Given the description of an element on the screen output the (x, y) to click on. 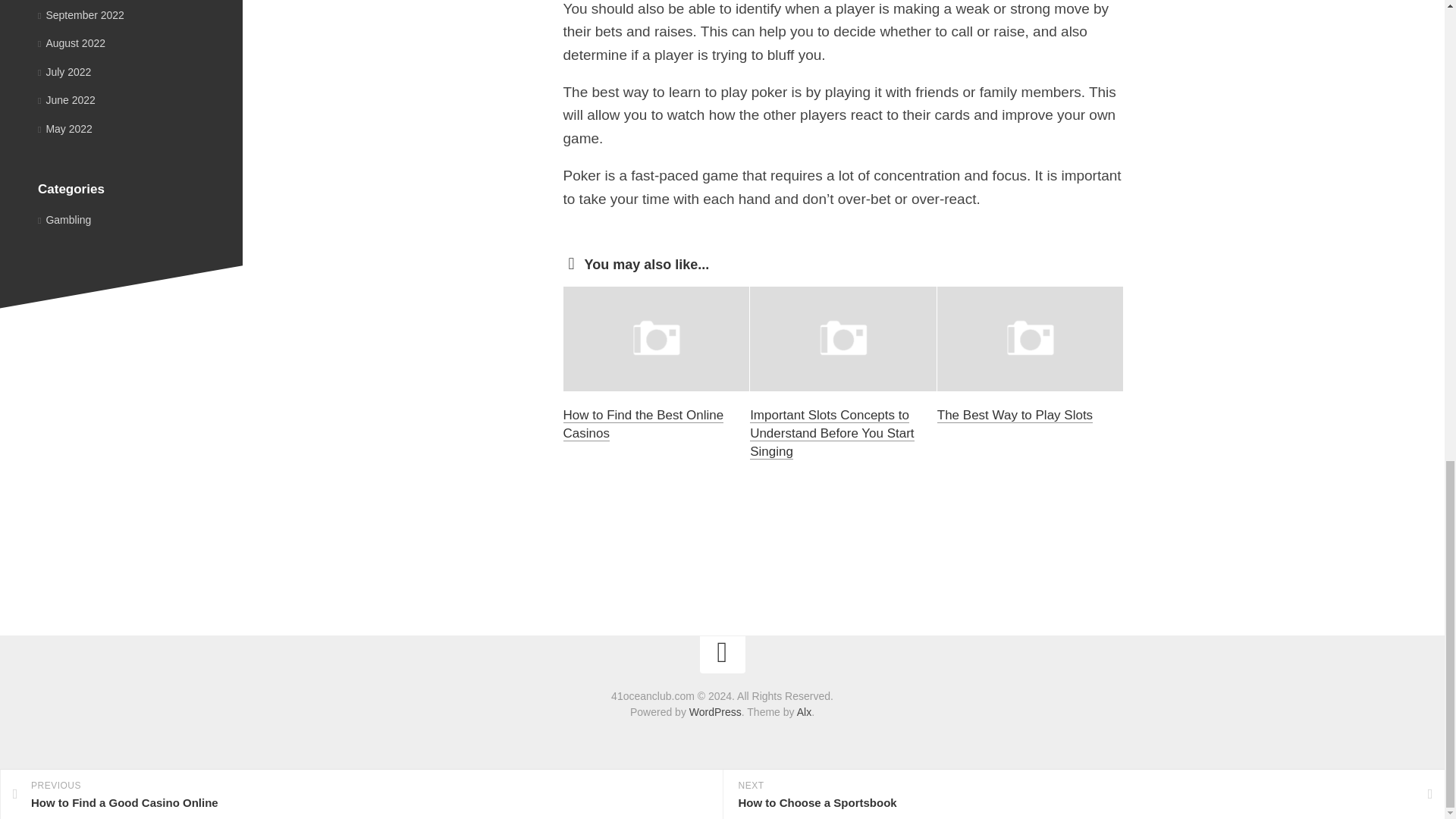
The Best Way to Play Slots (1015, 414)
How to Find the Best Online Casinos (642, 423)
